Given the description of an element on the screen output the (x, y) to click on. 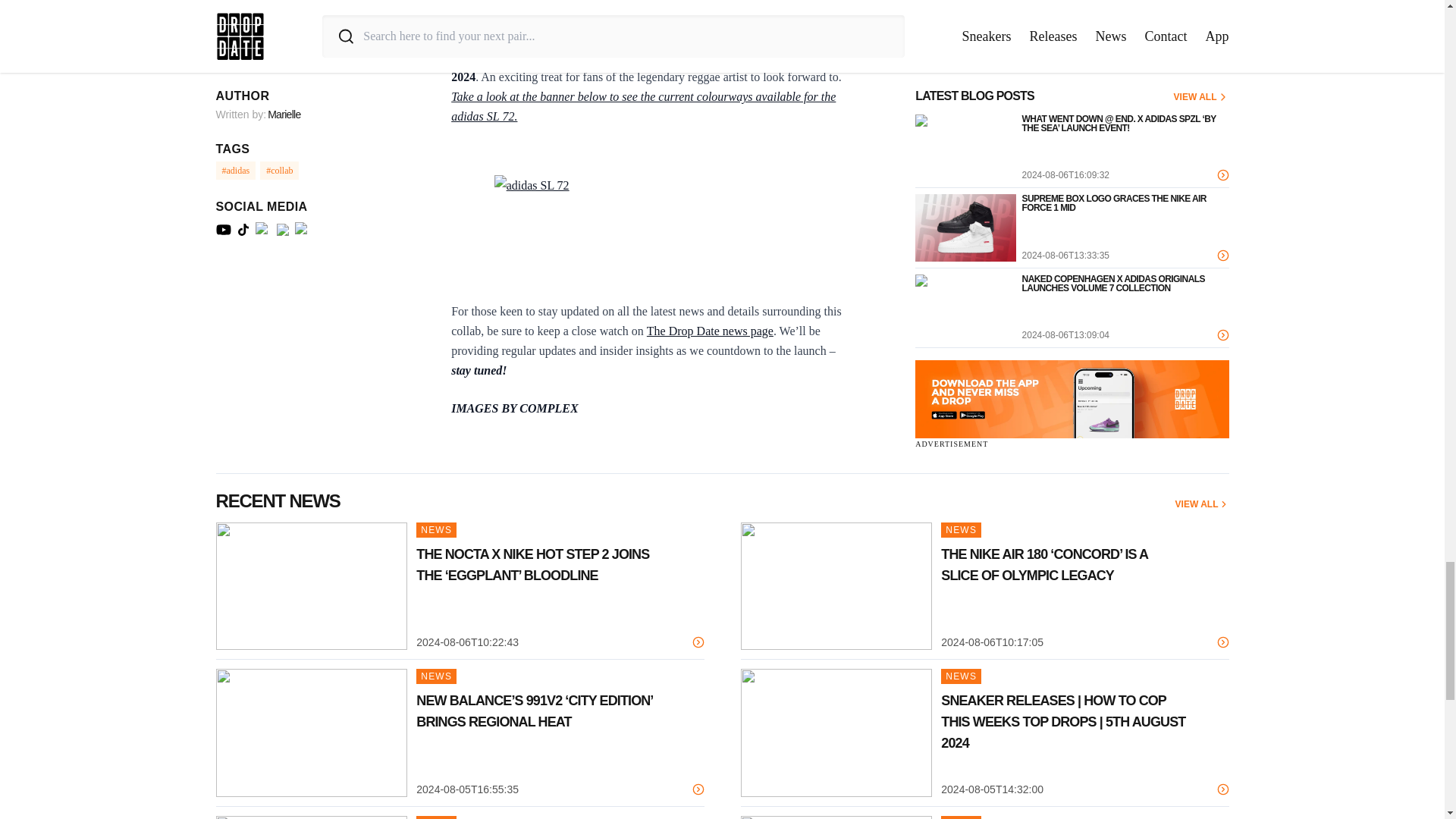
The Drop Date news page (709, 330)
